Given the description of an element on the screen output the (x, y) to click on. 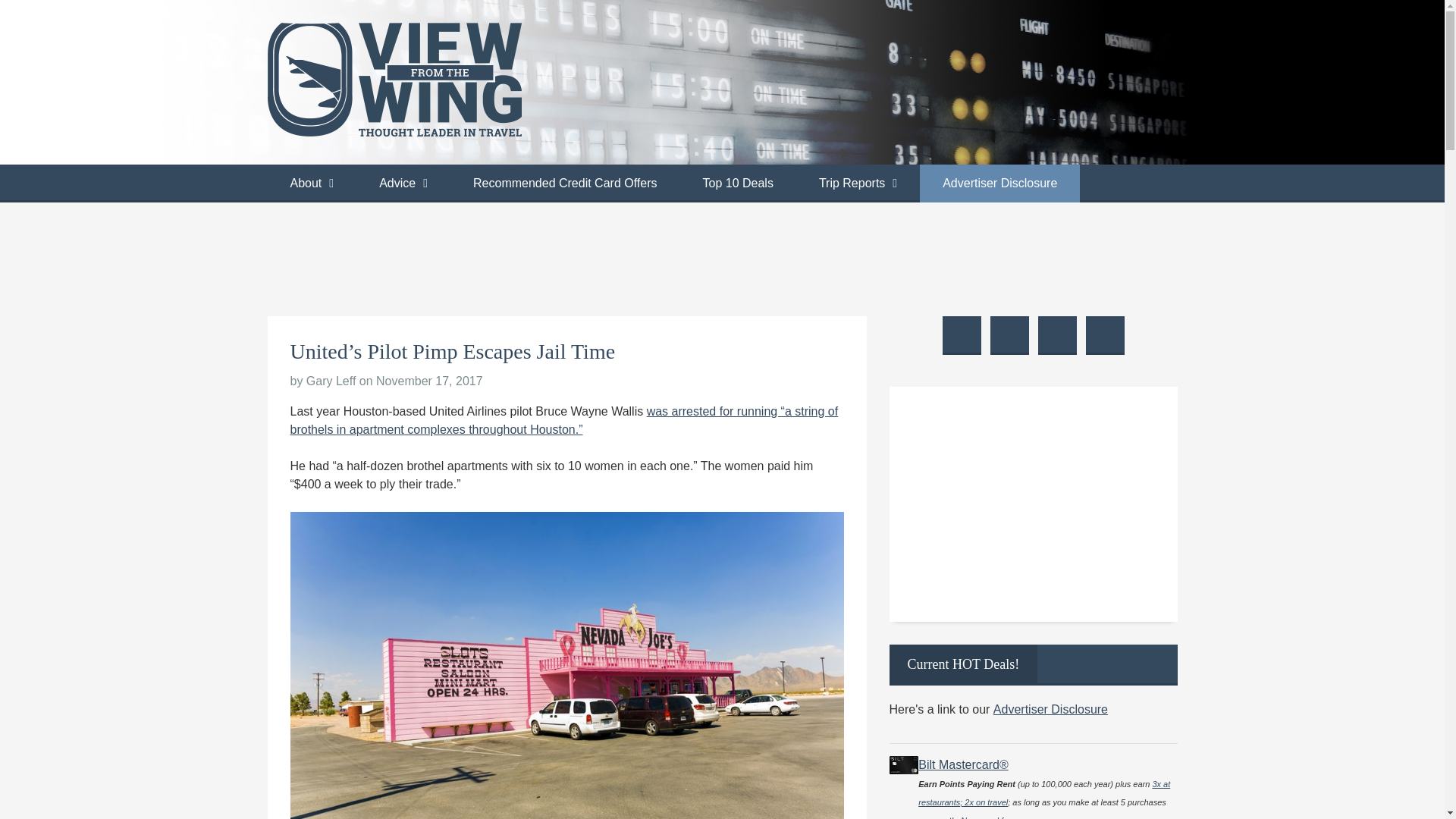
About (311, 183)
Gary Leff (330, 380)
Advertiser Disclosure (1000, 183)
Top 10 Deals (736, 183)
Recommended Credit Card Offers (564, 183)
Advice (402, 183)
Trip Reports (858, 183)
